Given the description of an element on the screen output the (x, y) to click on. 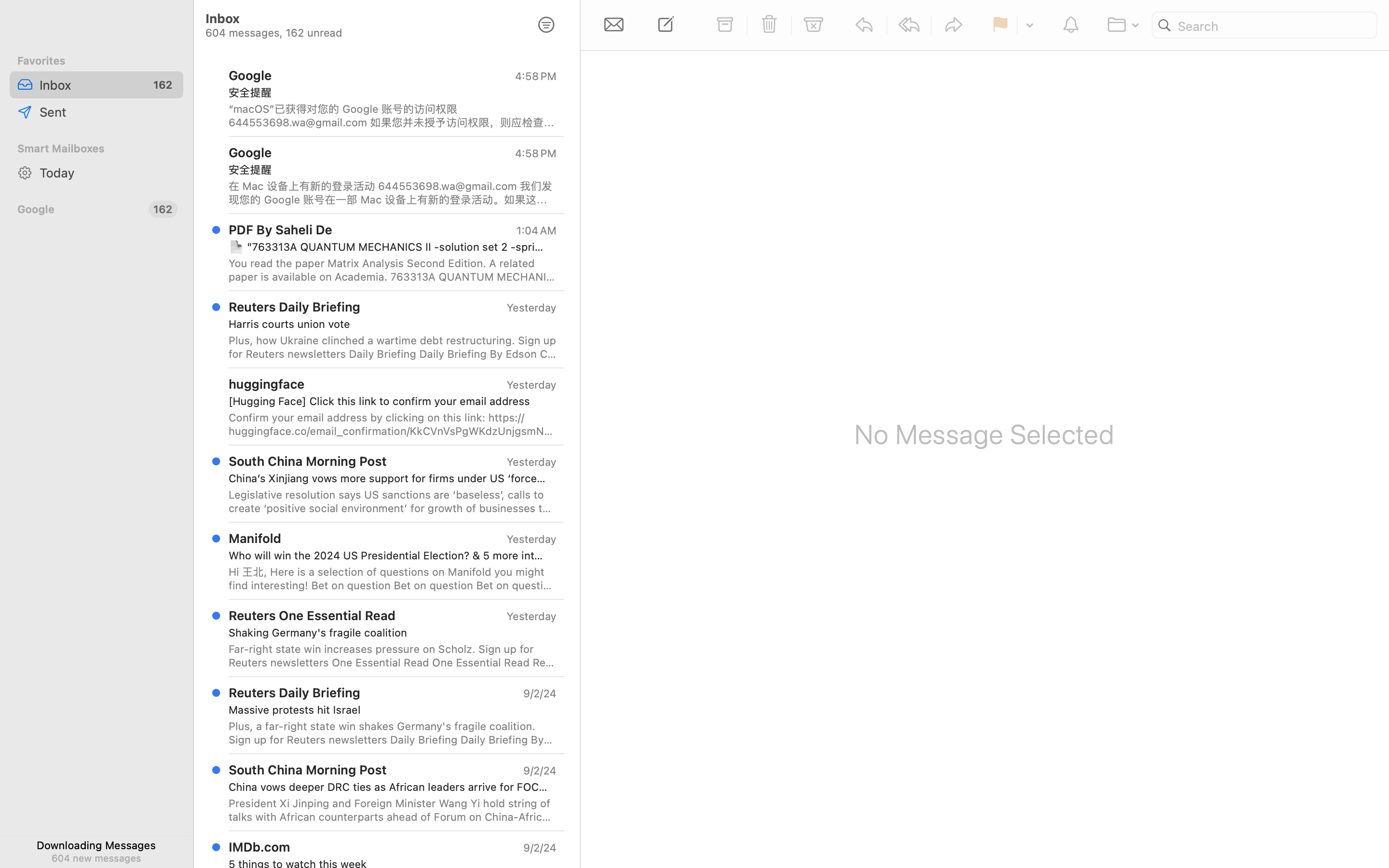
Harris courts union vote Element type: AXStaticText (388, 323)
Reuters Daily Briefing Element type: AXStaticText (294, 306)
1:04 AM Element type: AXStaticText (535, 230)
📄 "763313A QUANTUM MECHANICS II -solution set 2 -spring 2014" by Saheli De Element type: AXStaticText (388, 246)
Hi 王北, Here is a selection of questions on Manifold you might find interesting! Bet on question Bet on question Bet on question Bet on question Bet on question Bet on question 🔎 Explore Manifold This e-mail has been sent to 王北, click here to unsubscribe from this type of notification. Element type: AXStaticText (392, 578)
